Given the description of an element on the screen output the (x, y) to click on. 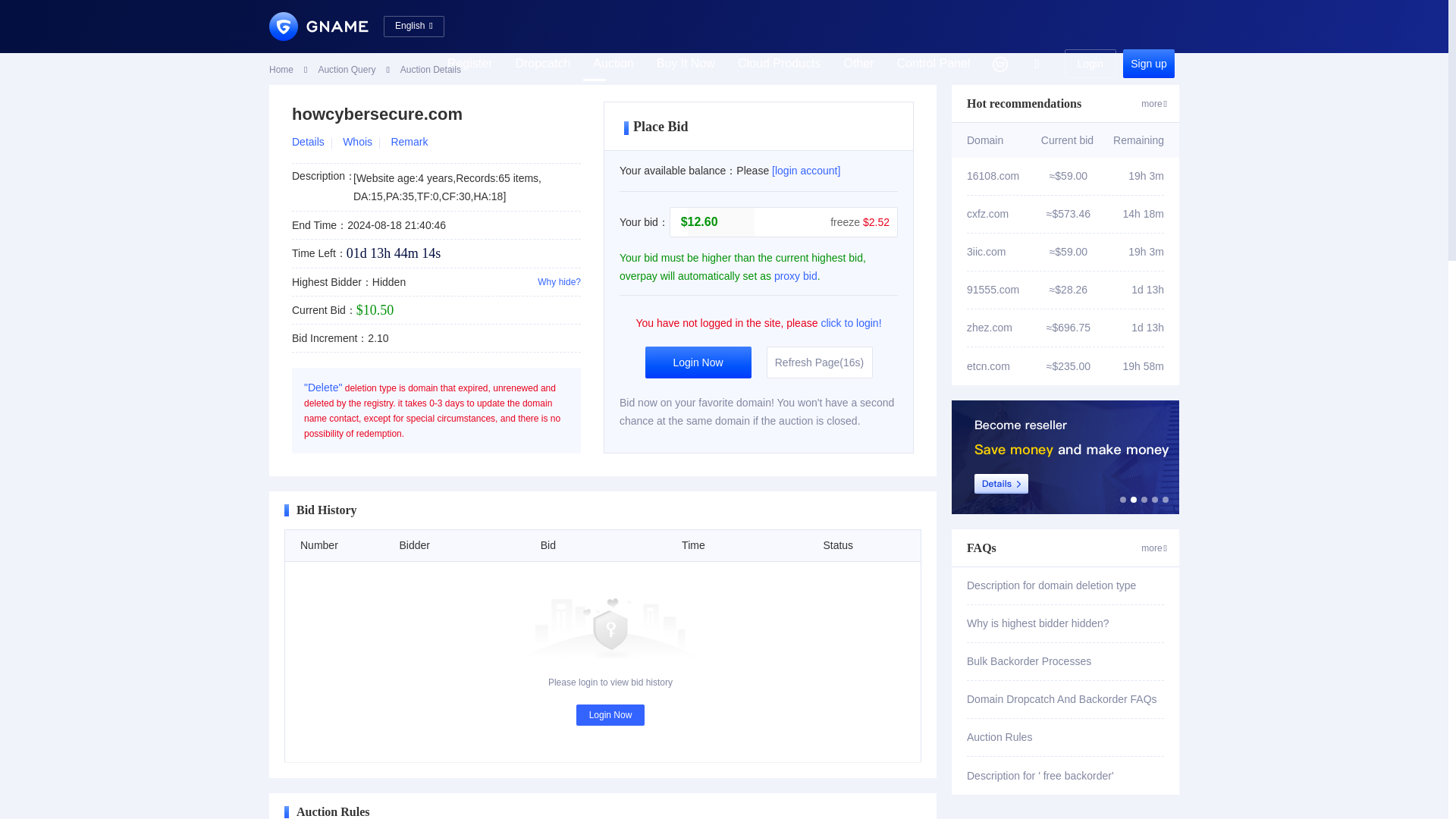
cxfz.com (1006, 213)
12.60 (720, 222)
Why is highest bidder hidden? (1064, 623)
Domain Dropcatch And Backorder FAQs (1064, 699)
Buy It Now (685, 63)
Bulk Backorder Processes (1064, 661)
etcn.com (1006, 365)
Dropcatch (542, 63)
16108.com (1006, 176)
Description for ' free backorder' (1064, 774)
